Given the description of an element on the screen output the (x, y) to click on. 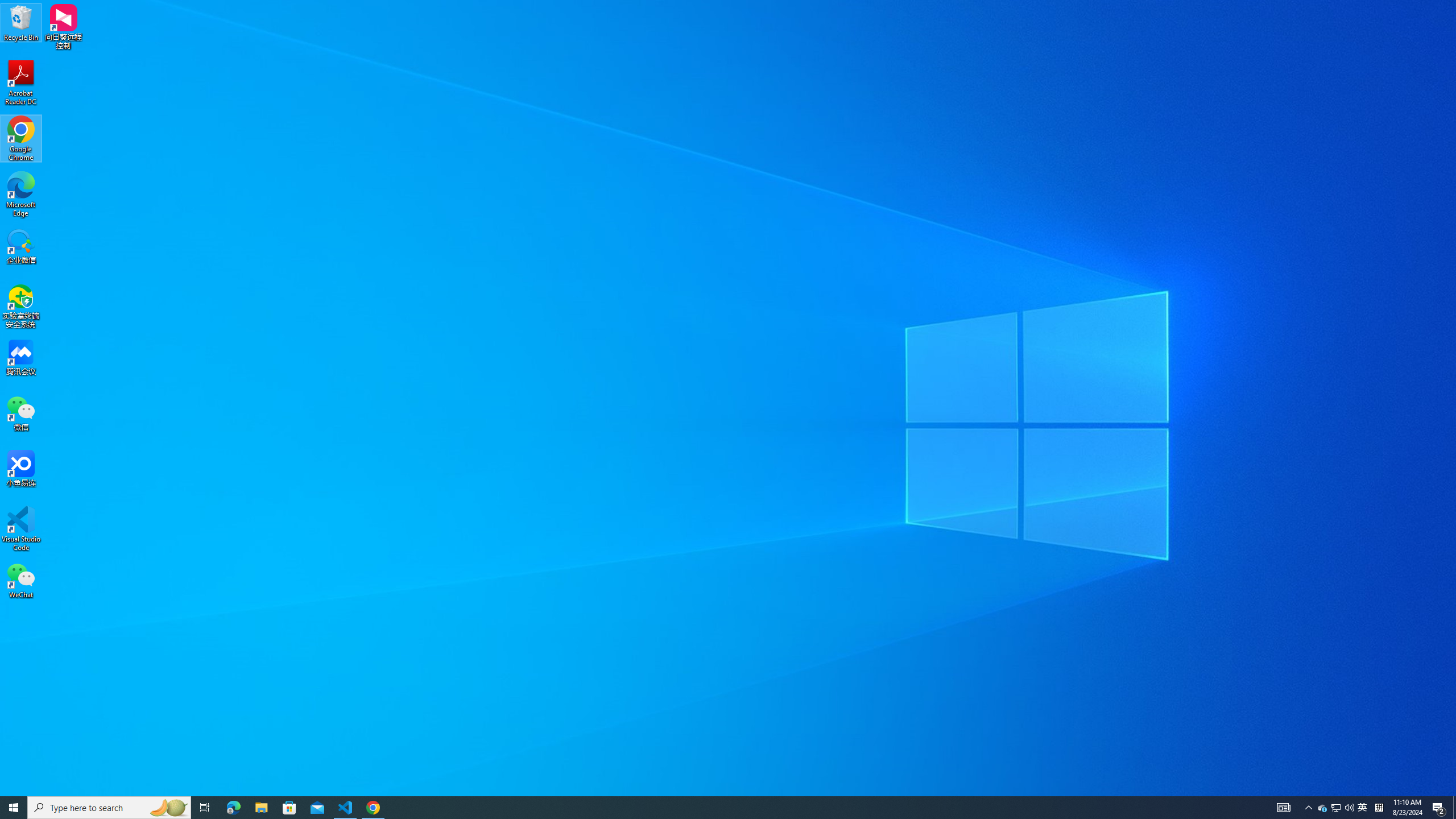
Google Chrome (21, 138)
Acrobat Reader DC (21, 82)
Recycle Bin (21, 22)
WeChat (21, 580)
Microsoft Edge (21, 194)
Visual Studio Code (21, 528)
